Given the description of an element on the screen output the (x, y) to click on. 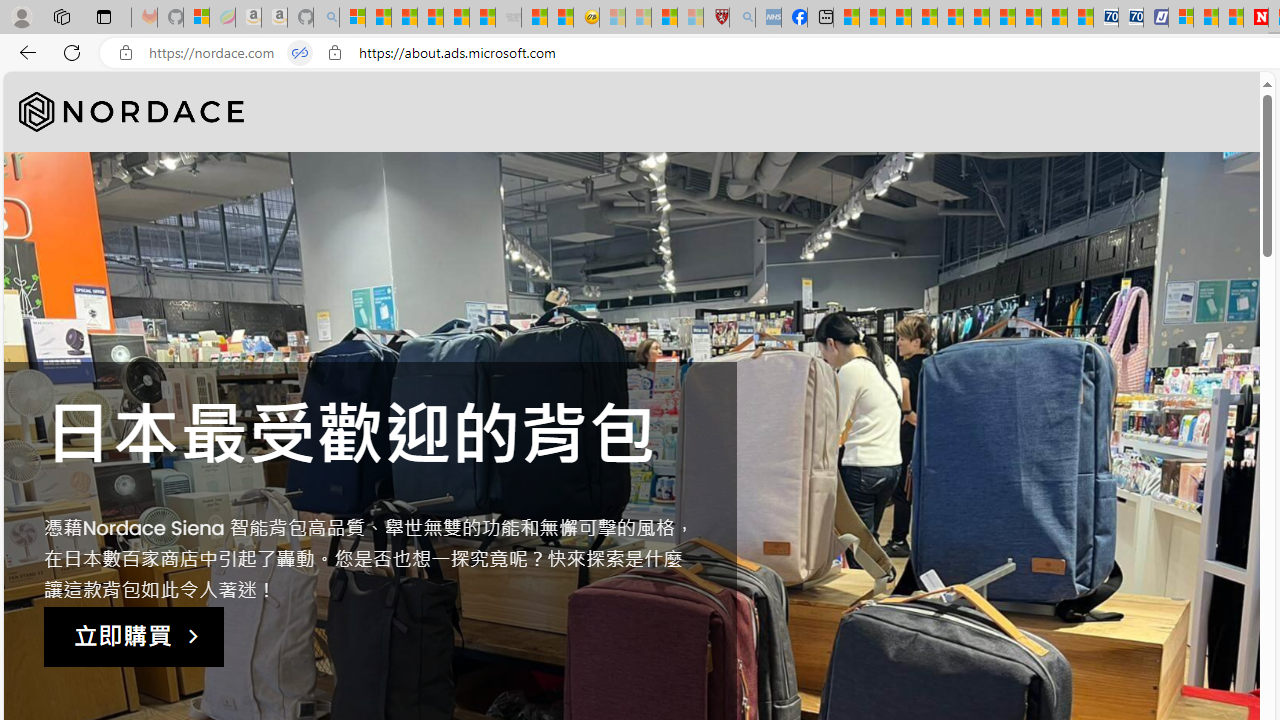
12 Popular Science Lies that Must be Corrected - Sleeping (690, 17)
